Given the description of an element on the screen output the (x, y) to click on. 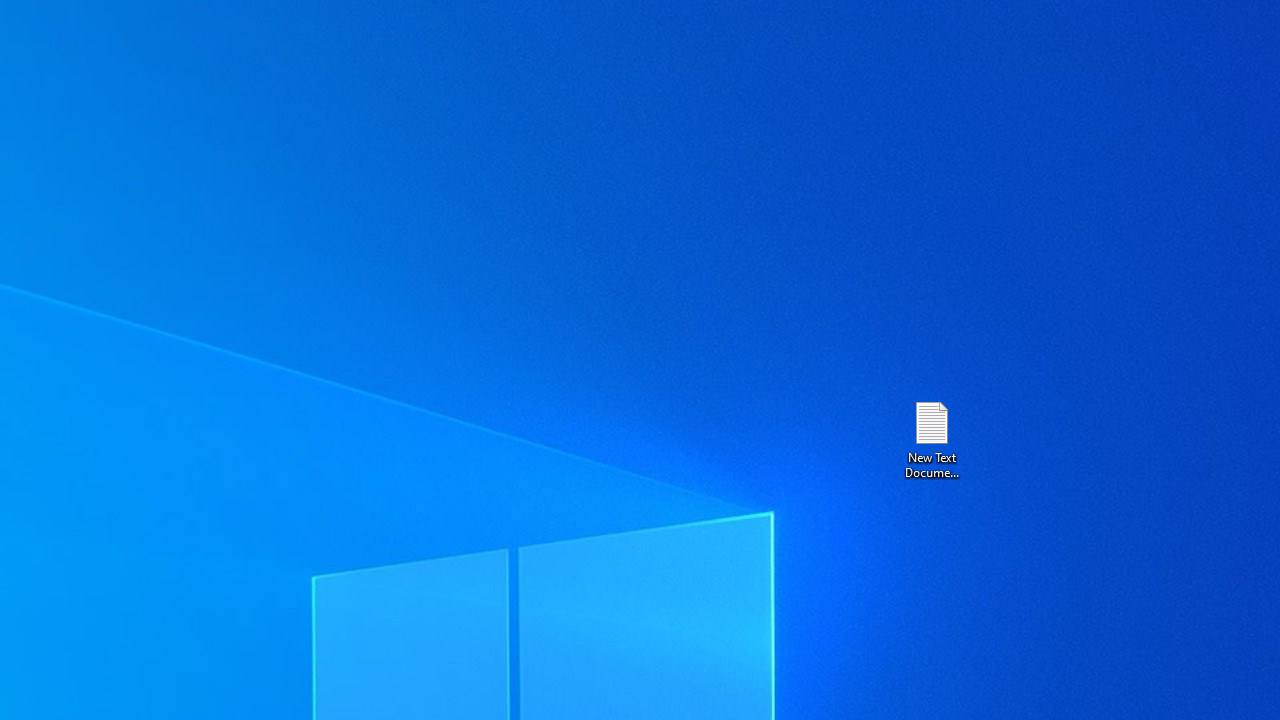
New Text Document (2) (931, 438)
